Given the description of an element on the screen output the (x, y) to click on. 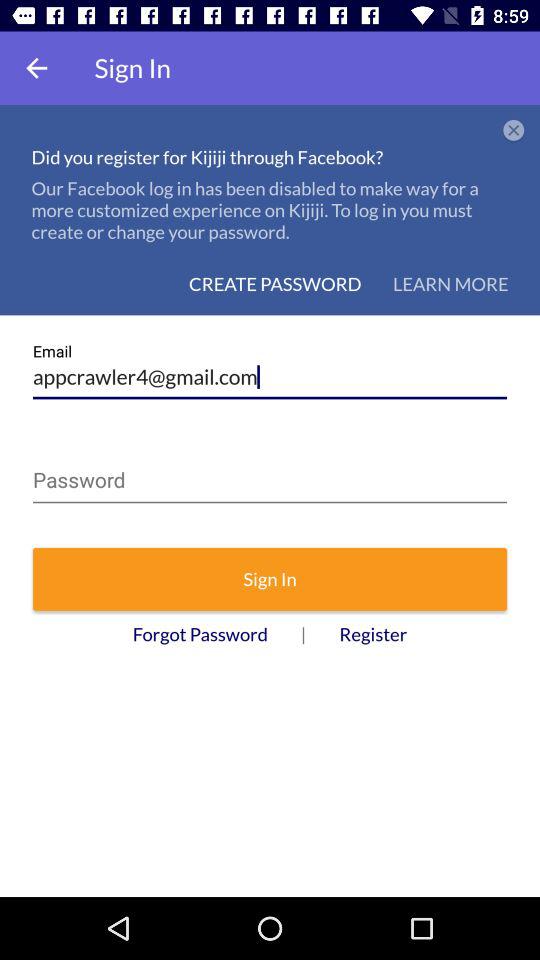
jump to the appcrawler4@gmail.com (270, 370)
